Given the description of an element on the screen output the (x, y) to click on. 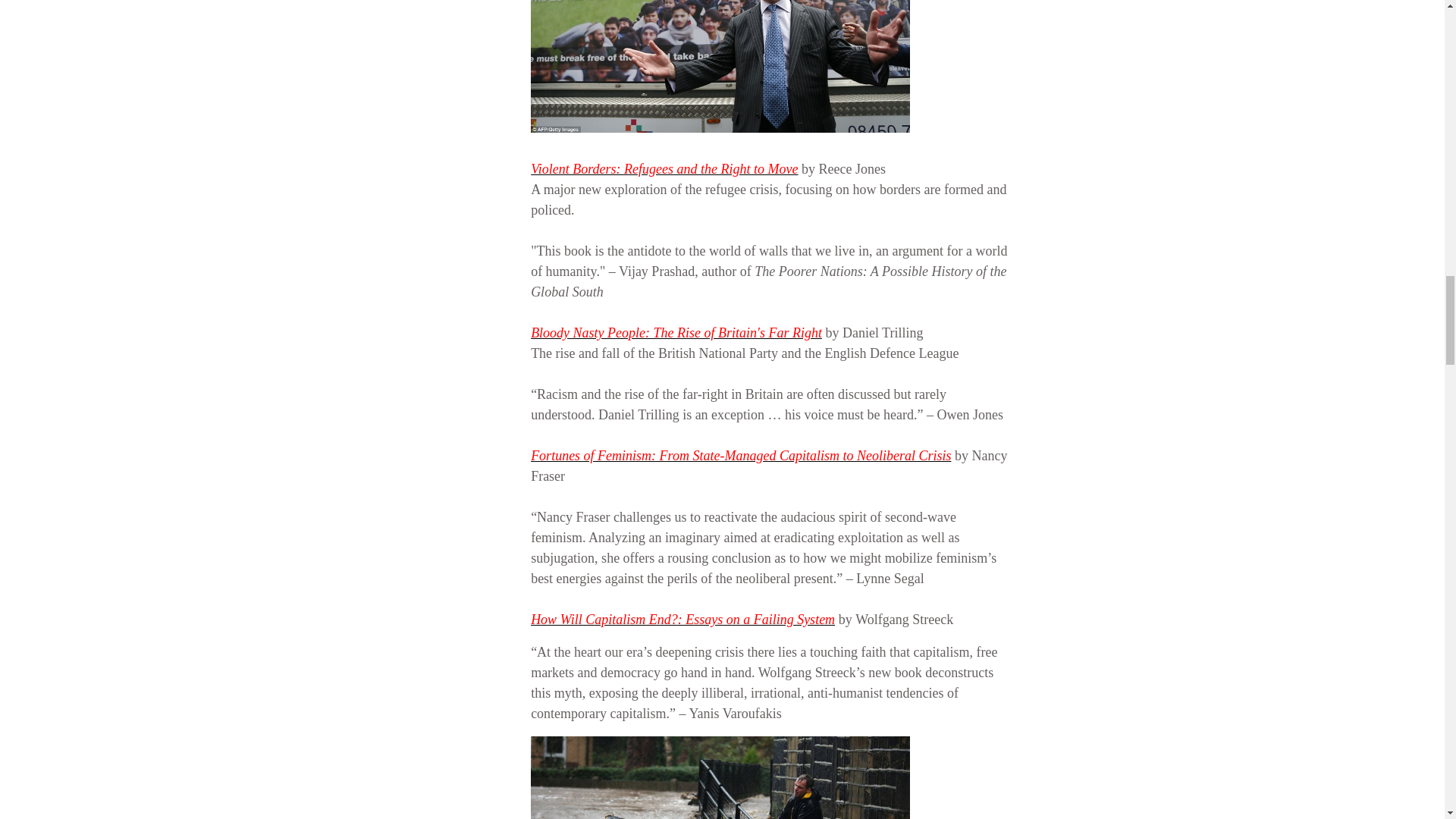
How Will Capitalism End?: Essays on a Failing System (682, 619)
Violent Borders: Refugees and the Right to Move (664, 168)
Bloody Nasty People: The Rise of Britain's Far Right (676, 332)
